Given the description of an element on the screen output the (x, y) to click on. 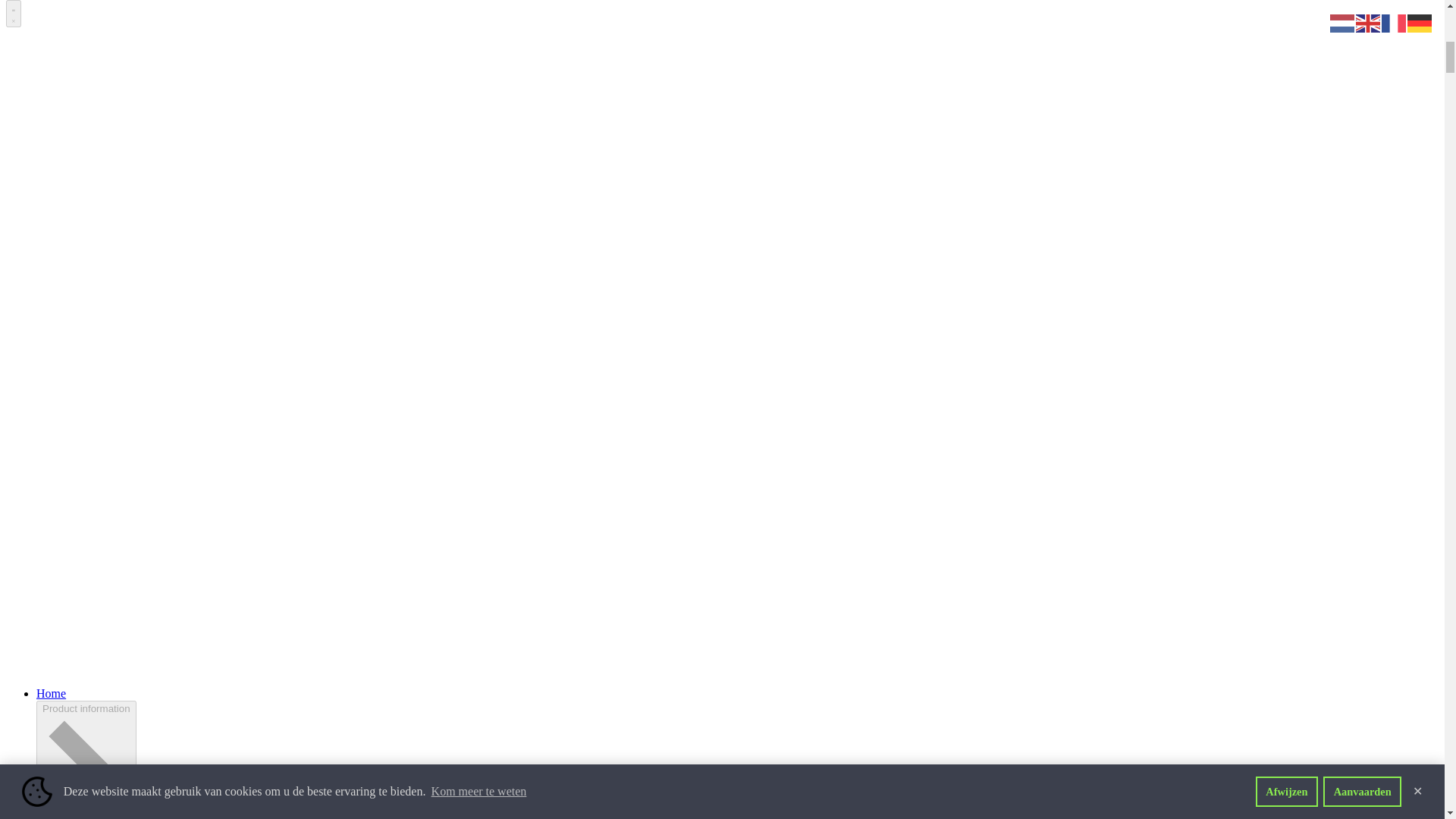
Products (57, 563)
Displays (57, 590)
Cables (52, 631)
Displays (57, 455)
Brose App (61, 469)
Batteries (58, 576)
Common Errors (75, 793)
Help (47, 766)
Product information (84, 414)
Connectors (63, 645)
Jobs (47, 320)
Chargers (58, 658)
Brands (52, 197)
Small parts (63, 672)
Drive Units (64, 604)
